Given the description of an element on the screen output the (x, y) to click on. 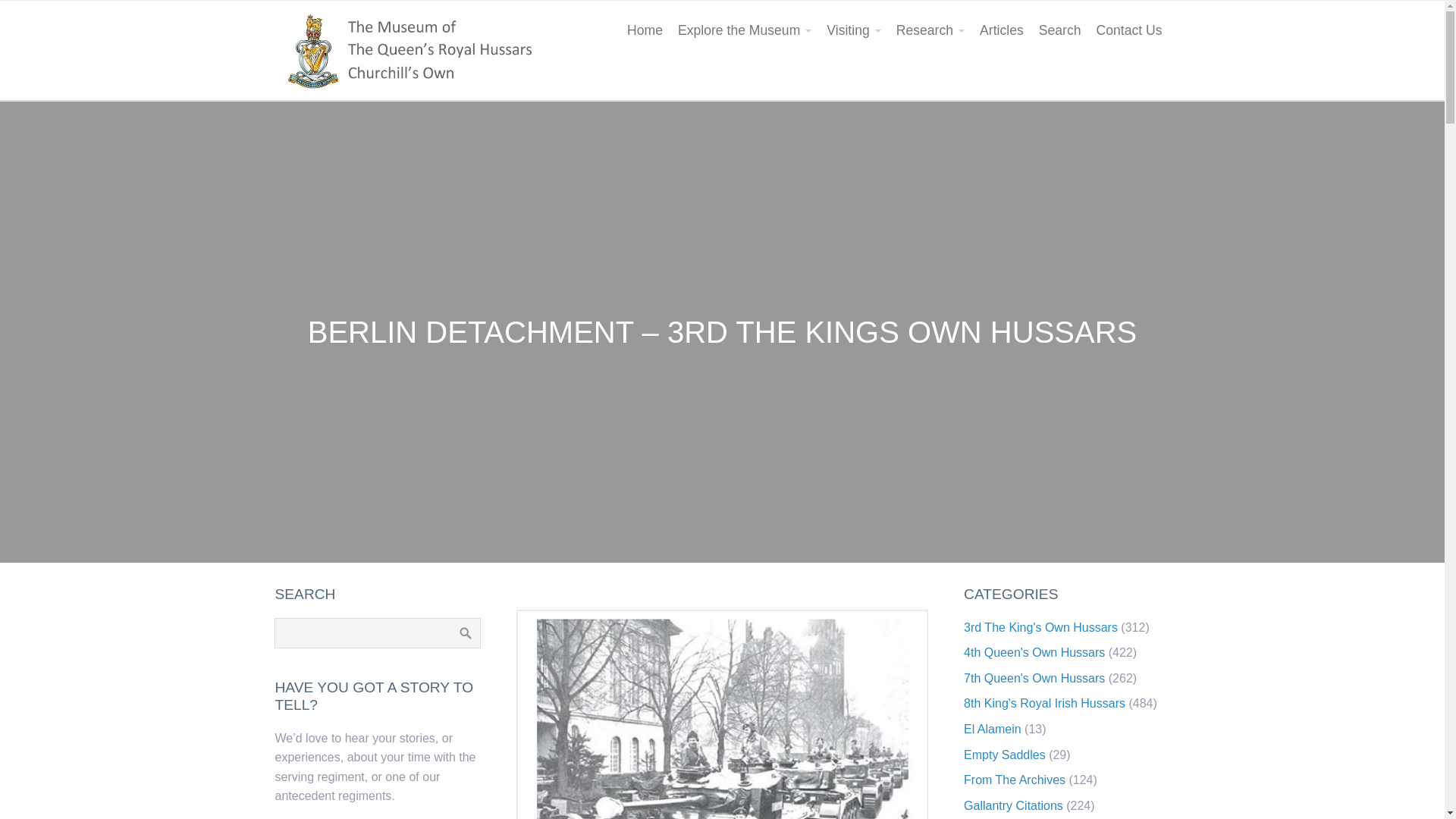
El Alamein (992, 728)
Visiting (853, 30)
Contact Us (1128, 30)
7th Queen's Own Hussars (1034, 677)
Search (464, 633)
Home (644, 30)
Articles (1001, 30)
4th Queen's Own Hussars (1034, 652)
Search (1059, 30)
8th King's Royal Irish Hussars (1044, 703)
Research (930, 30)
Explore the Museum (743, 30)
3rd The King's Own Hussars (1040, 626)
